Given the description of an element on the screen output the (x, y) to click on. 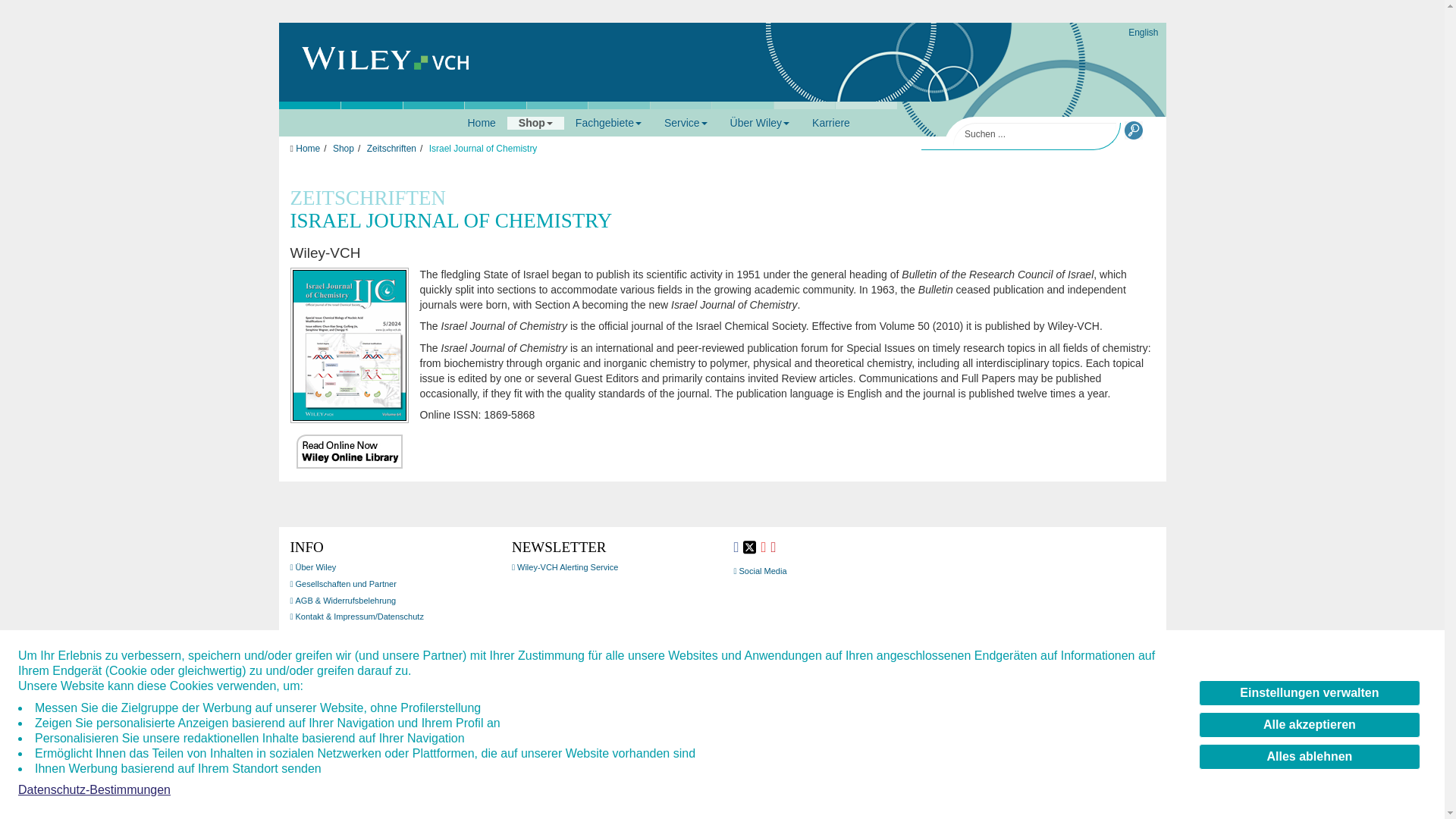
English (1142, 32)
Service (685, 123)
Shop (535, 123)
Home (481, 123)
Suchen ... (1034, 134)
Fachgebiete (608, 123)
Suchen ... (1034, 134)
Twitter (748, 546)
